Given the description of an element on the screen output the (x, y) to click on. 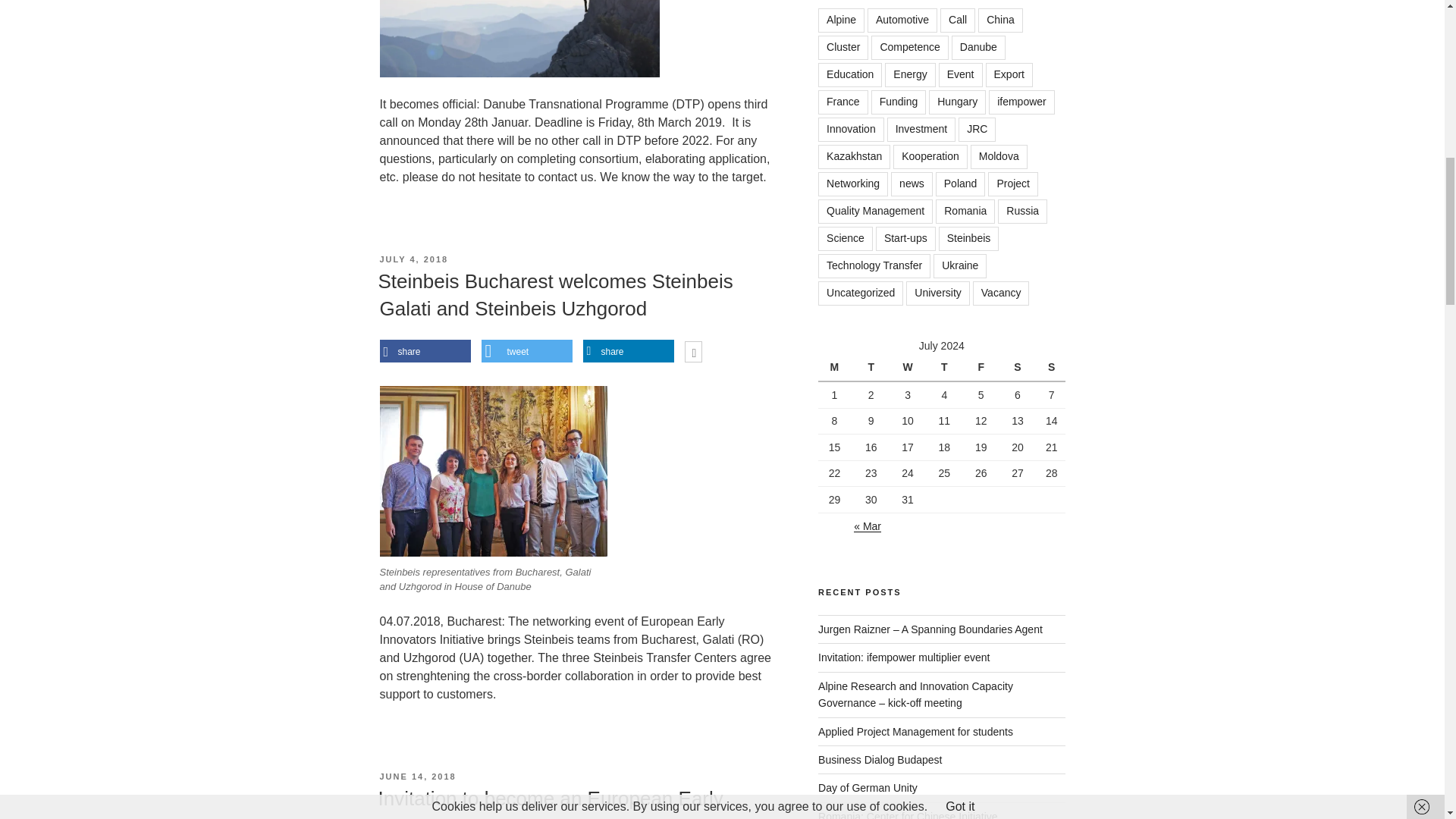
Share on Facebook (424, 351)
JUNE 14, 2018 (416, 776)
Share on Twitter (526, 351)
share (424, 351)
JULY 4, 2018 (413, 258)
Share on LinkedIn (627, 351)
Invitation to become an European Early Innovator (549, 803)
share (627, 351)
tweet (526, 351)
